Given the description of an element on the screen output the (x, y) to click on. 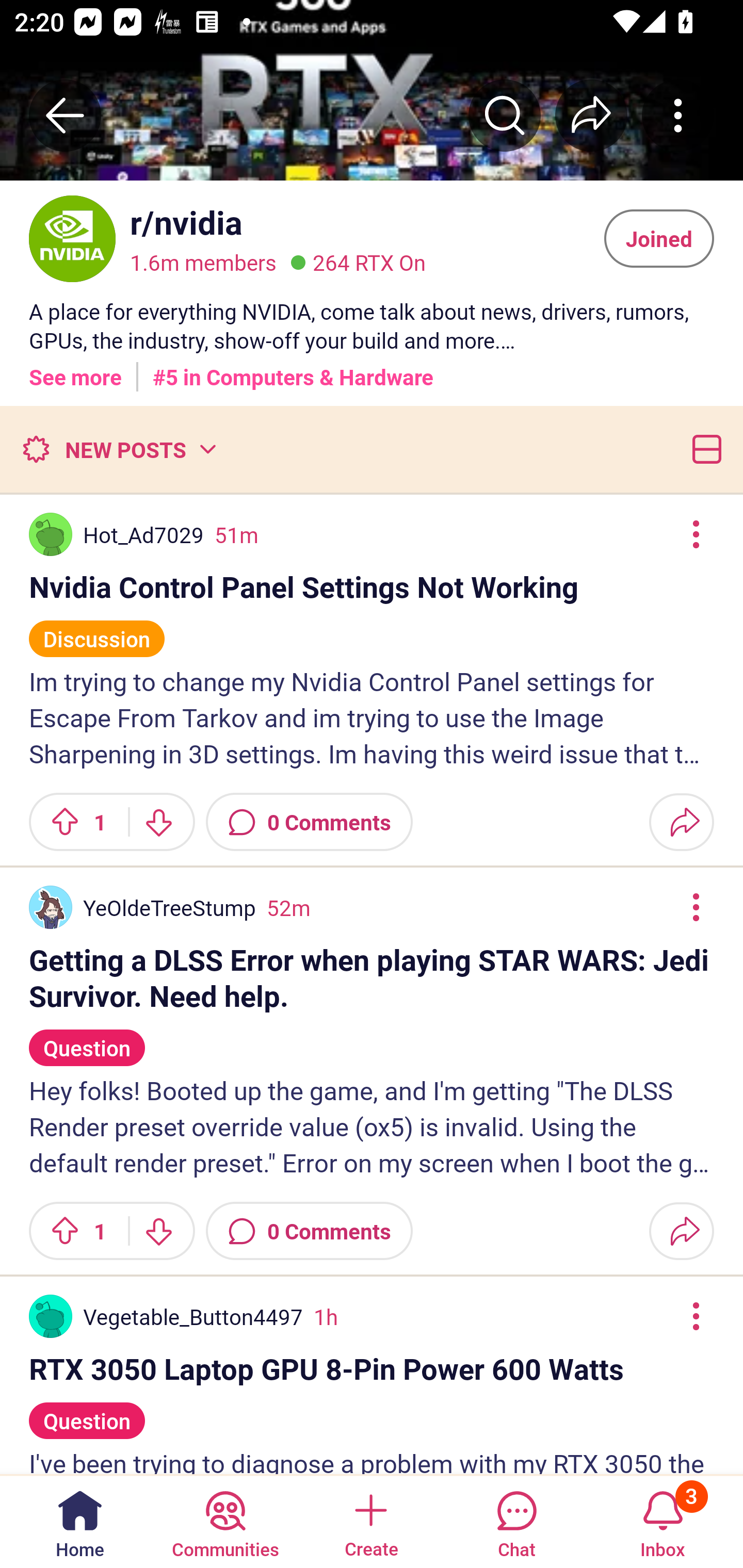
Back (64, 115)
Search r/﻿nvidia (504, 115)
Share r/﻿nvidia (591, 115)
More community actions (677, 115)
New posts NEW POSTS (118, 449)
Card (703, 449)
Discussion (96, 629)
Question (86, 1039)
Question (86, 1411)
Home (80, 1520)
Communities (225, 1520)
Create a post Create (370, 1520)
Chat (516, 1520)
Inbox, has 3 notifications 3 Inbox (662, 1520)
